Given the description of an element on the screen output the (x, y) to click on. 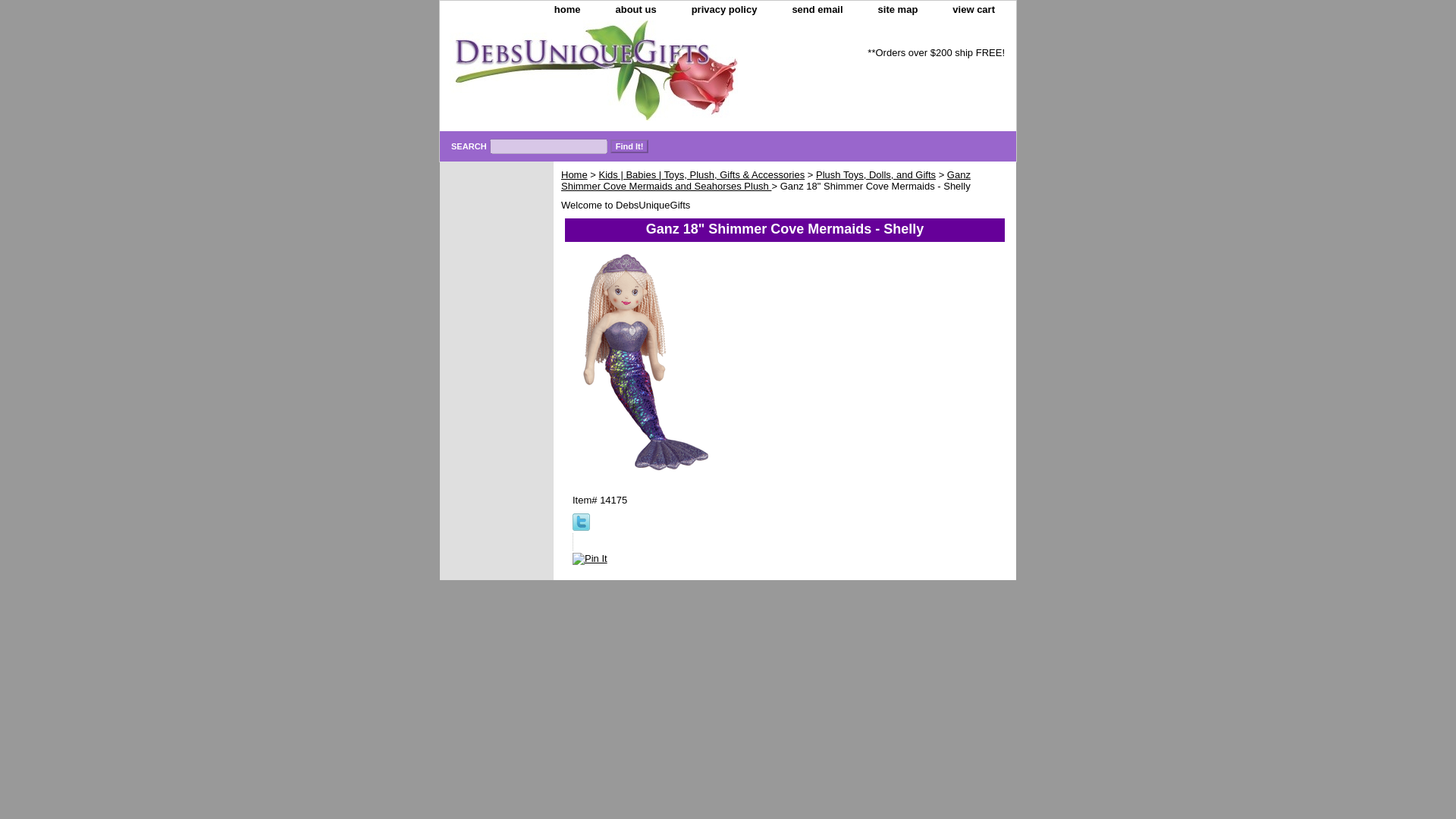
home (566, 9)
privacy policy (725, 9)
DebsUniqueGifts.com (628, 75)
Find It! (629, 146)
Pin It (589, 558)
send email (816, 9)
Home (574, 174)
about us (635, 9)
view cart (973, 9)
Plush Toys, Dolls, and Gifts (875, 174)
